Given the description of an element on the screen output the (x, y) to click on. 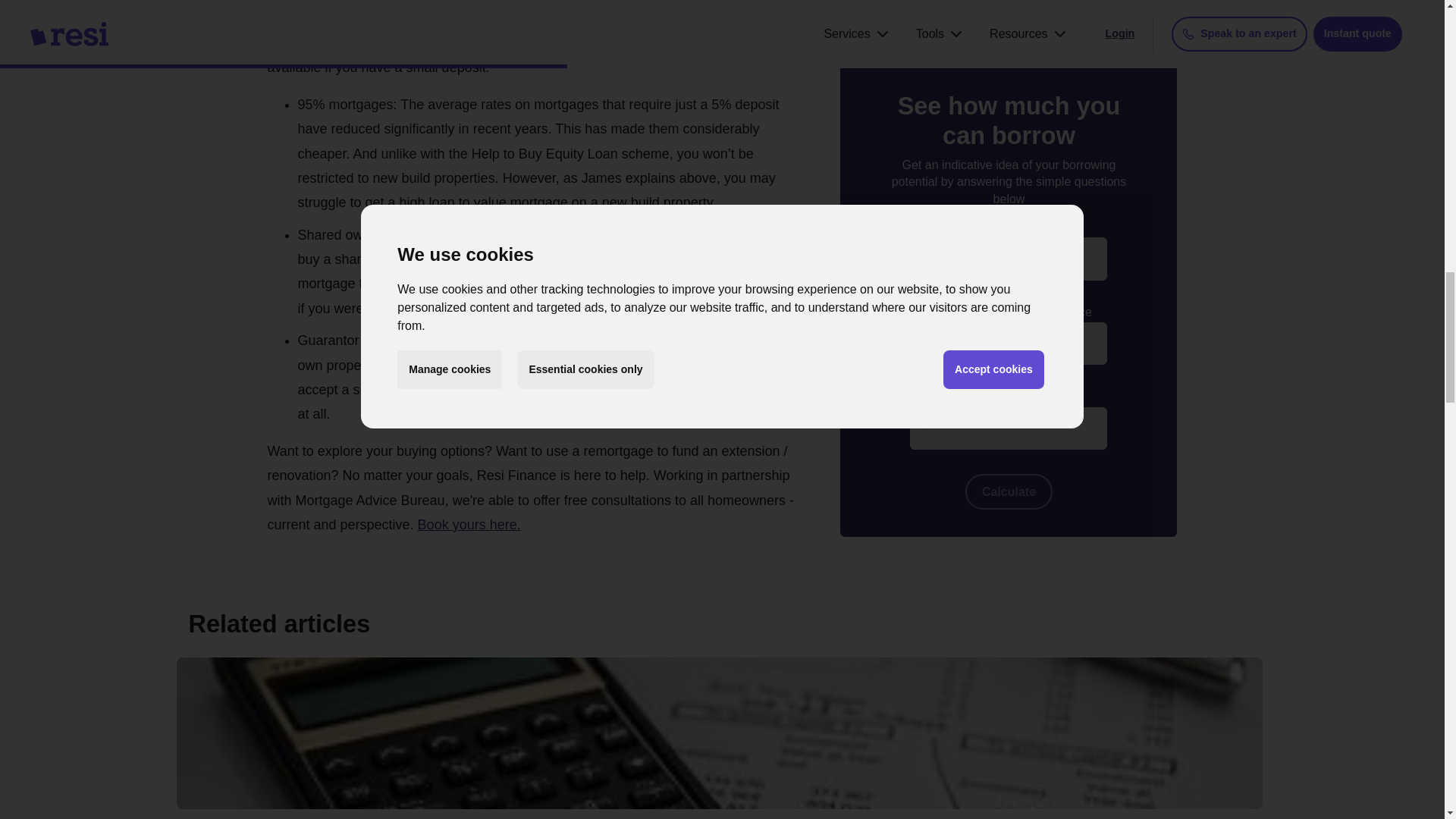
Find out more about shared ownership here. (659, 308)
Book yours here. (469, 524)
